Given the description of an element on the screen output the (x, y) to click on. 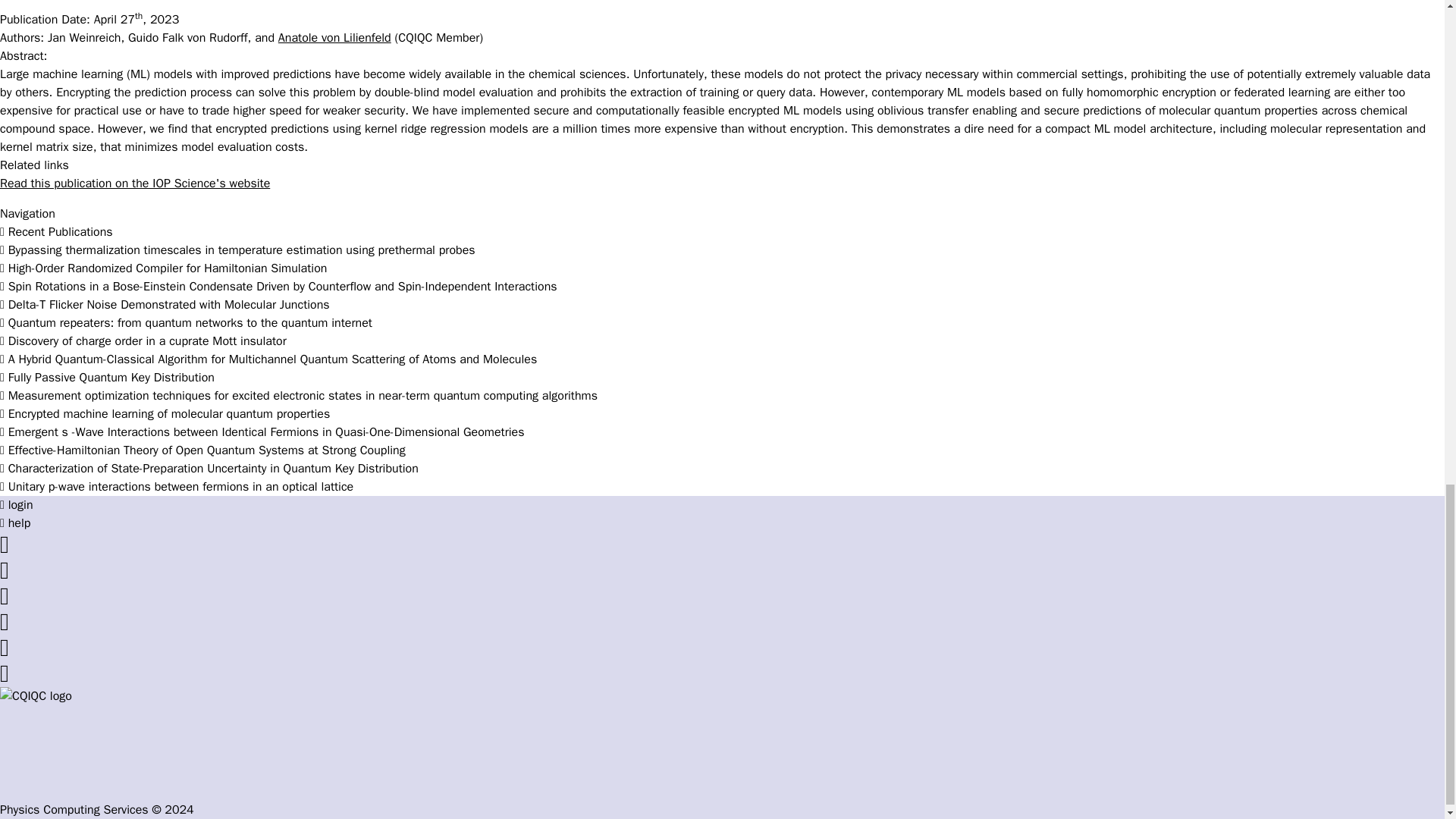
Anatole von Lilienfeld (334, 37)
